Given the description of an element on the screen output the (x, y) to click on. 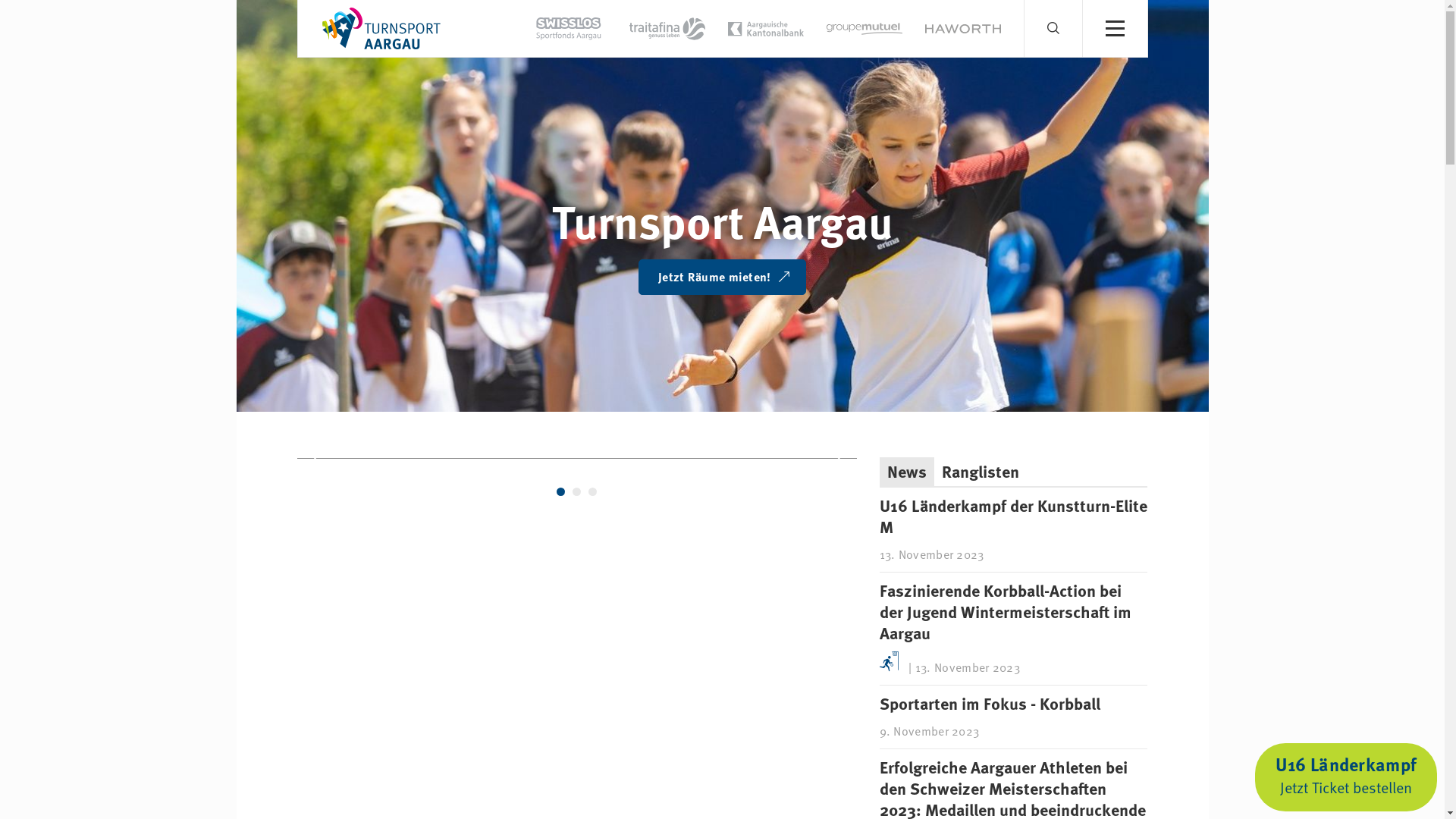
Logo Aargauer Turnverband ATV Element type: hover (380, 28)
Suchen Element type: text (1081, 35)
Sportarten im Fokus - Korbball Element type: text (989, 702)
Logo Aargauer Turnverband ATV Element type: hover (380, 26)
